Given the description of an element on the screen output the (x, y) to click on. 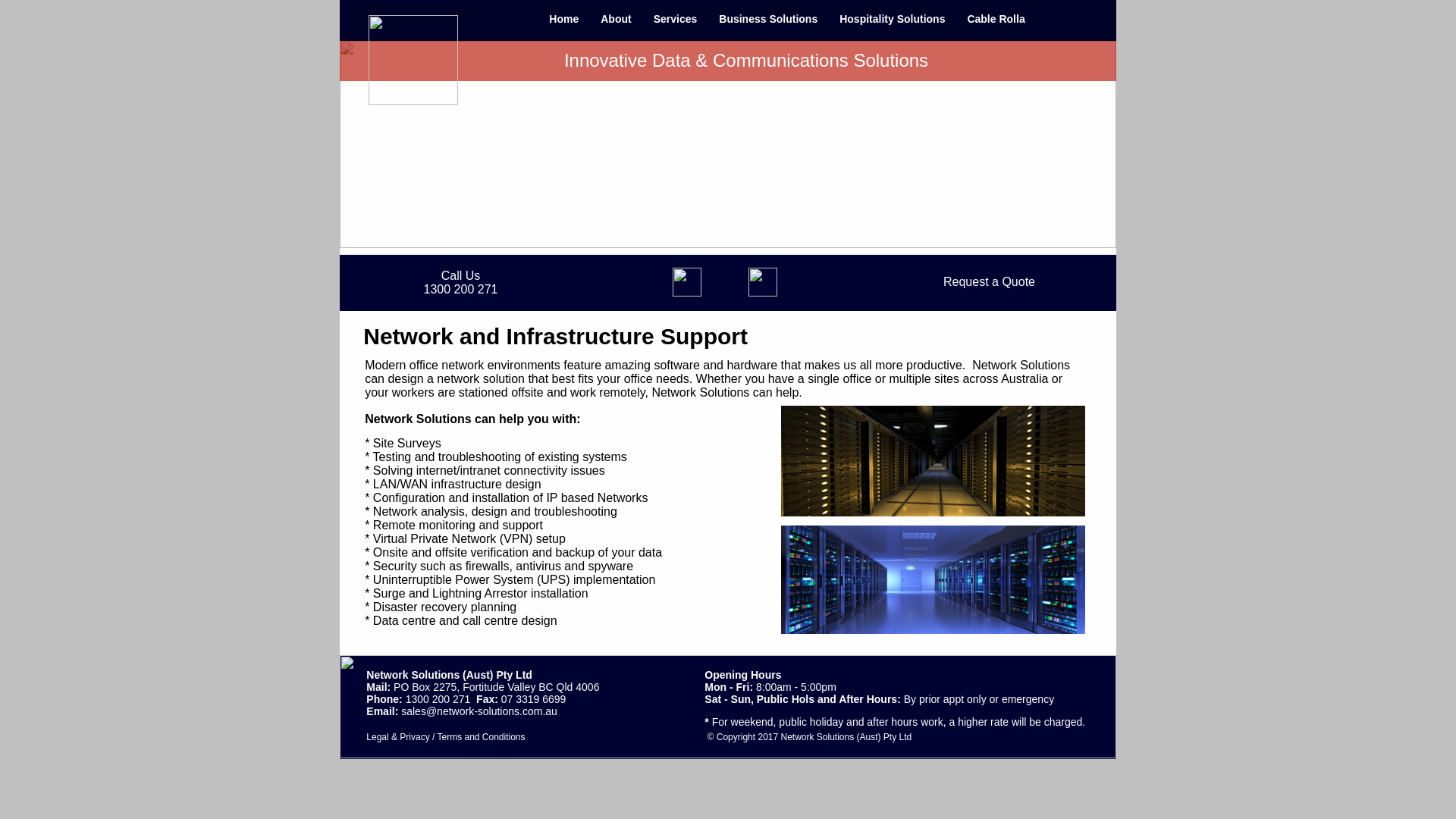
Hospitality Solutions Element type: text (891, 18)
Services Element type: text (675, 18)
Business Solutions Element type: text (768, 18)
Legal & Privacy Element type: text (397, 736)
Request a Quote Element type: text (989, 281)
Terms and Conditions Element type: text (481, 736)
About Element type: text (615, 18)
Cable Rolla Element type: text (995, 18)
Home Element type: text (563, 18)
